Given the description of an element on the screen output the (x, y) to click on. 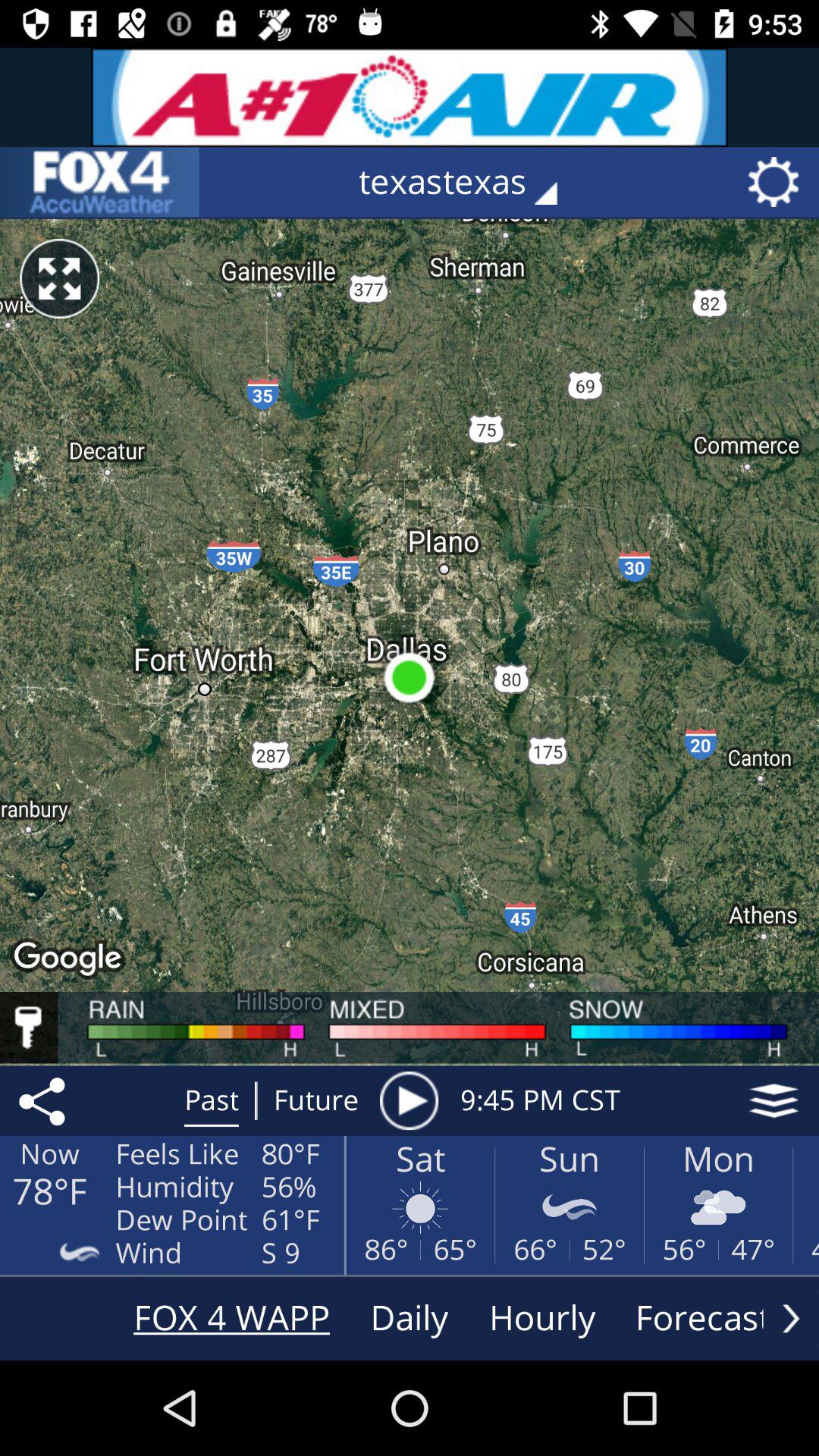
press the item to the left of the texastexas icon (99, 182)
